Given the description of an element on the screen output the (x, y) to click on. 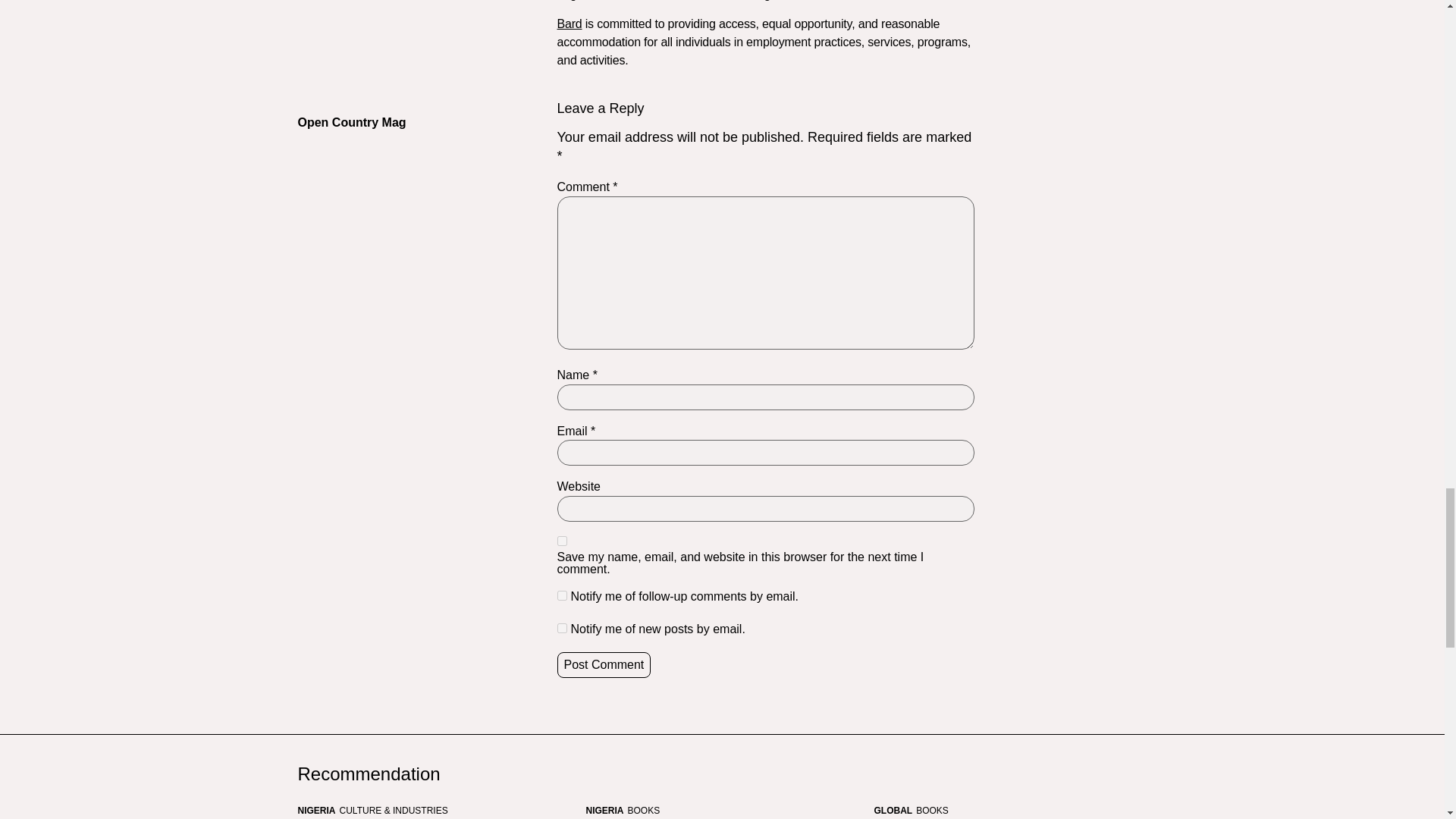
Post Comment (603, 664)
subscribe (561, 595)
subscribe (561, 628)
yes (561, 541)
